Given the description of an element on the screen output the (x, y) to click on. 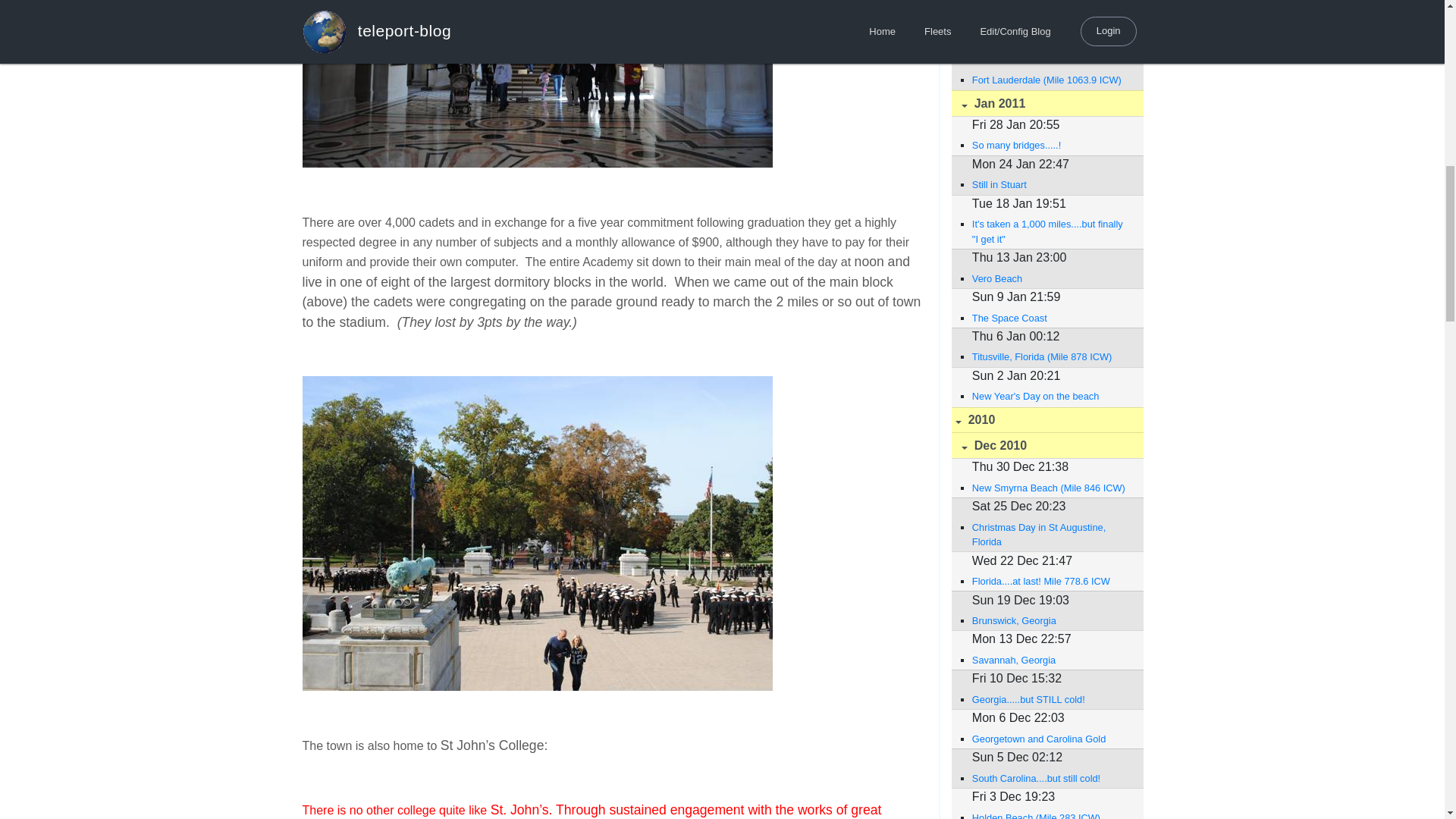
The Bahamas (1050, 40)
Jan 2011 (1046, 103)
Feb 2011 (1046, 6)
So many bridges.....! (1050, 145)
